Given the description of an element on the screen output the (x, y) to click on. 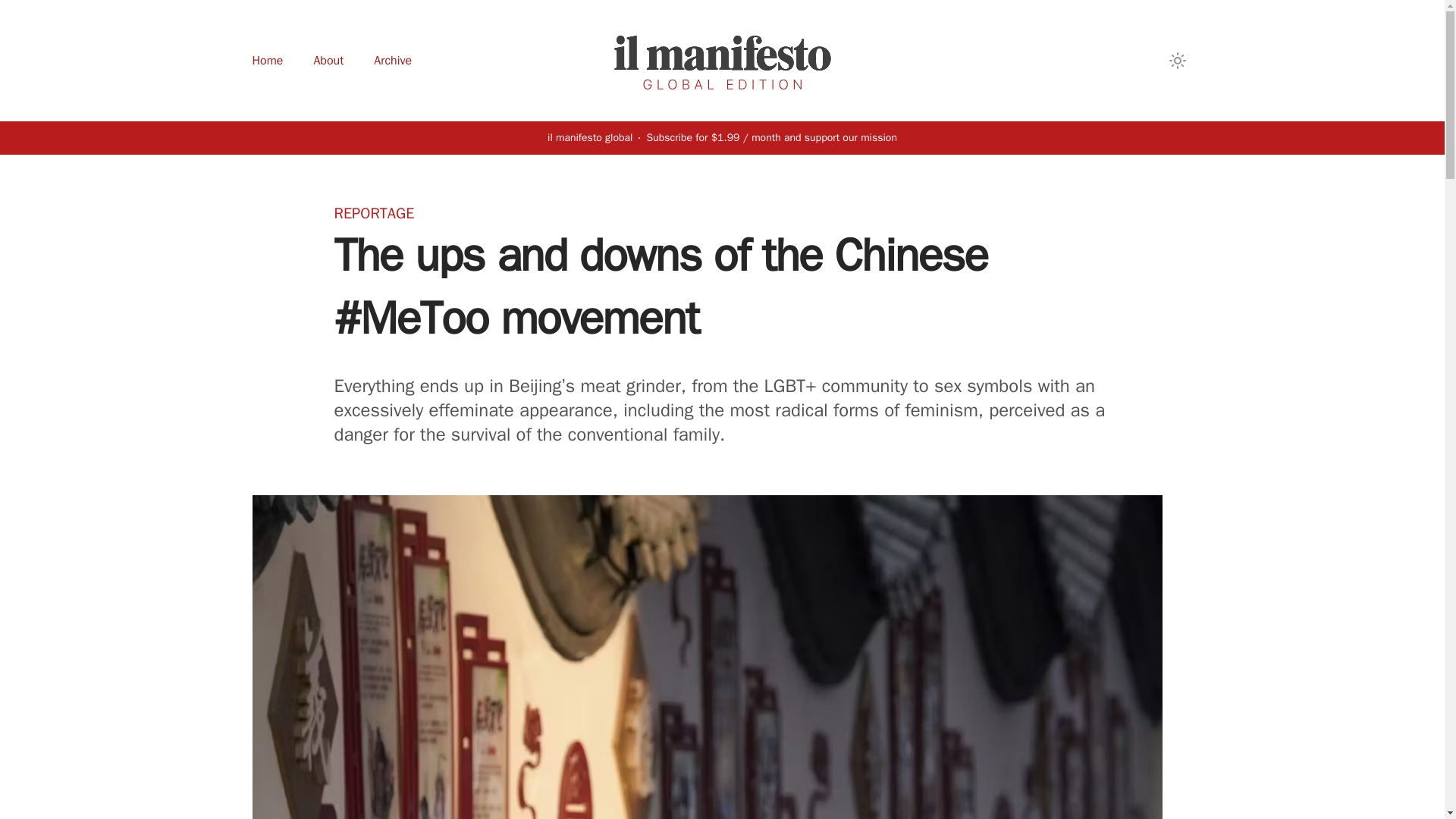
About (328, 60)
Archive (393, 60)
Home (266, 60)
